Given the description of an element on the screen output the (x, y) to click on. 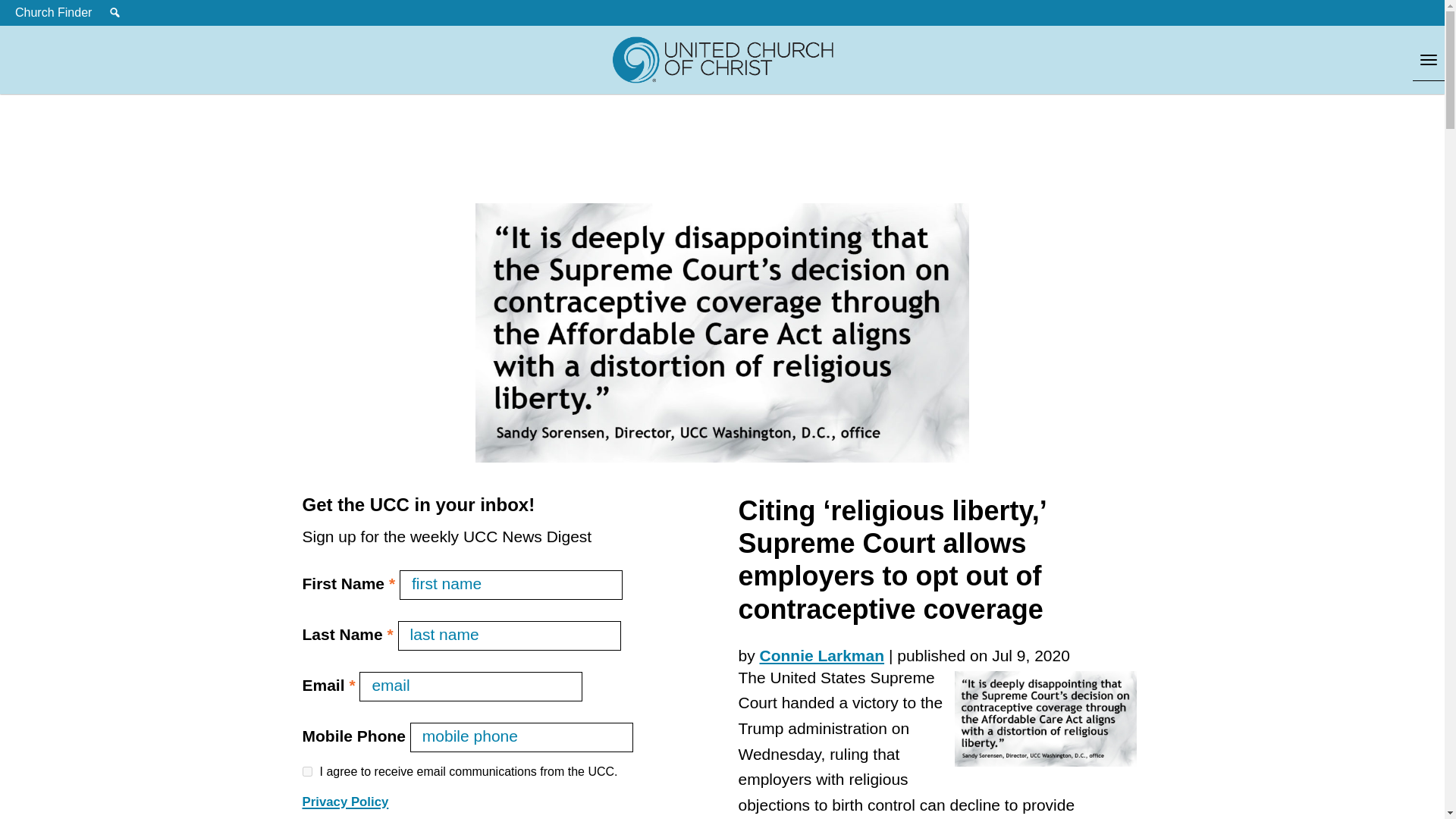
496 (306, 771)
Posts by Connie Larkman (822, 655)
